Given the description of an element on the screen output the (x, y) to click on. 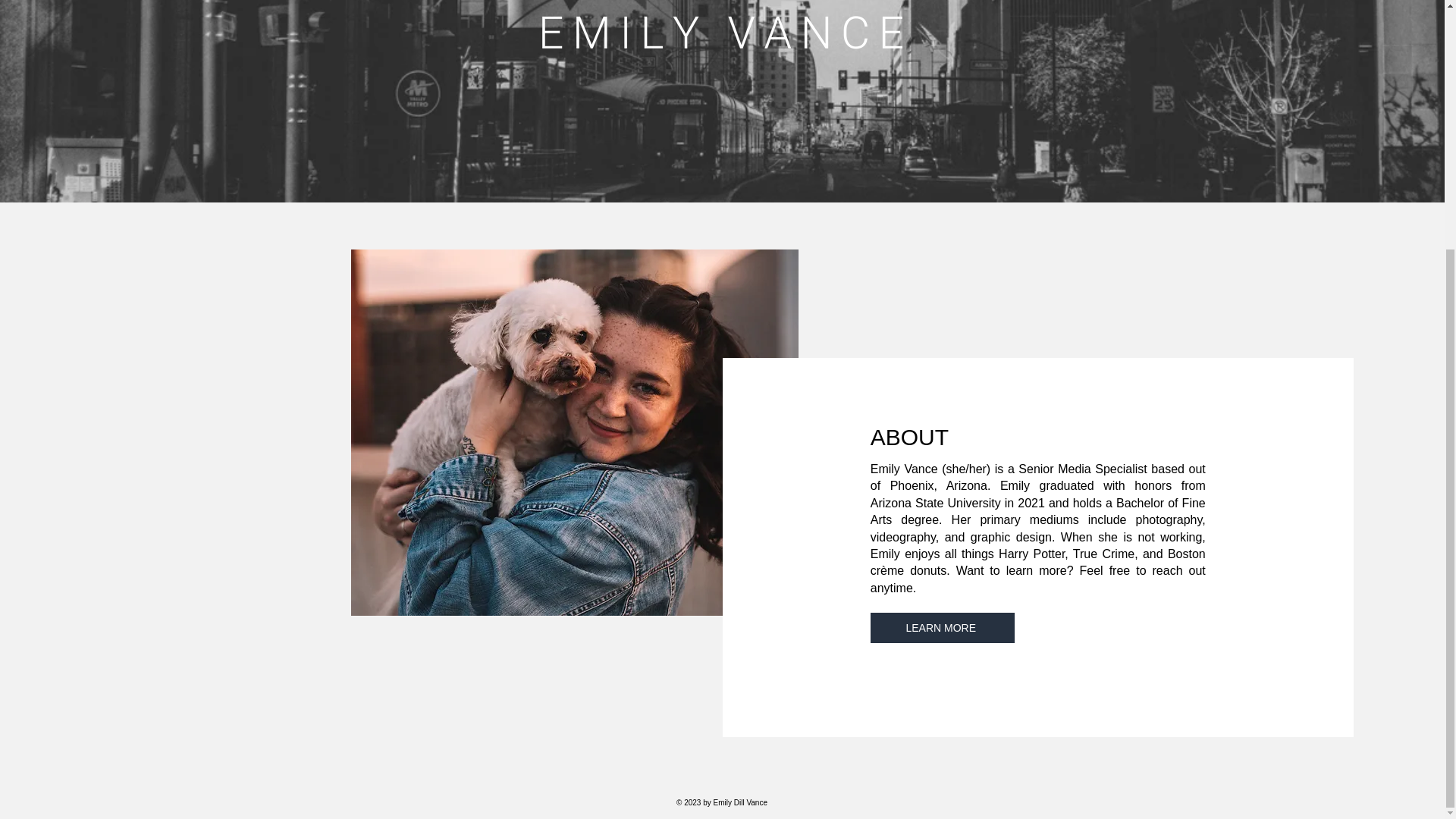
LEARN MORE (942, 627)
